Given the description of an element on the screen output the (x, y) to click on. 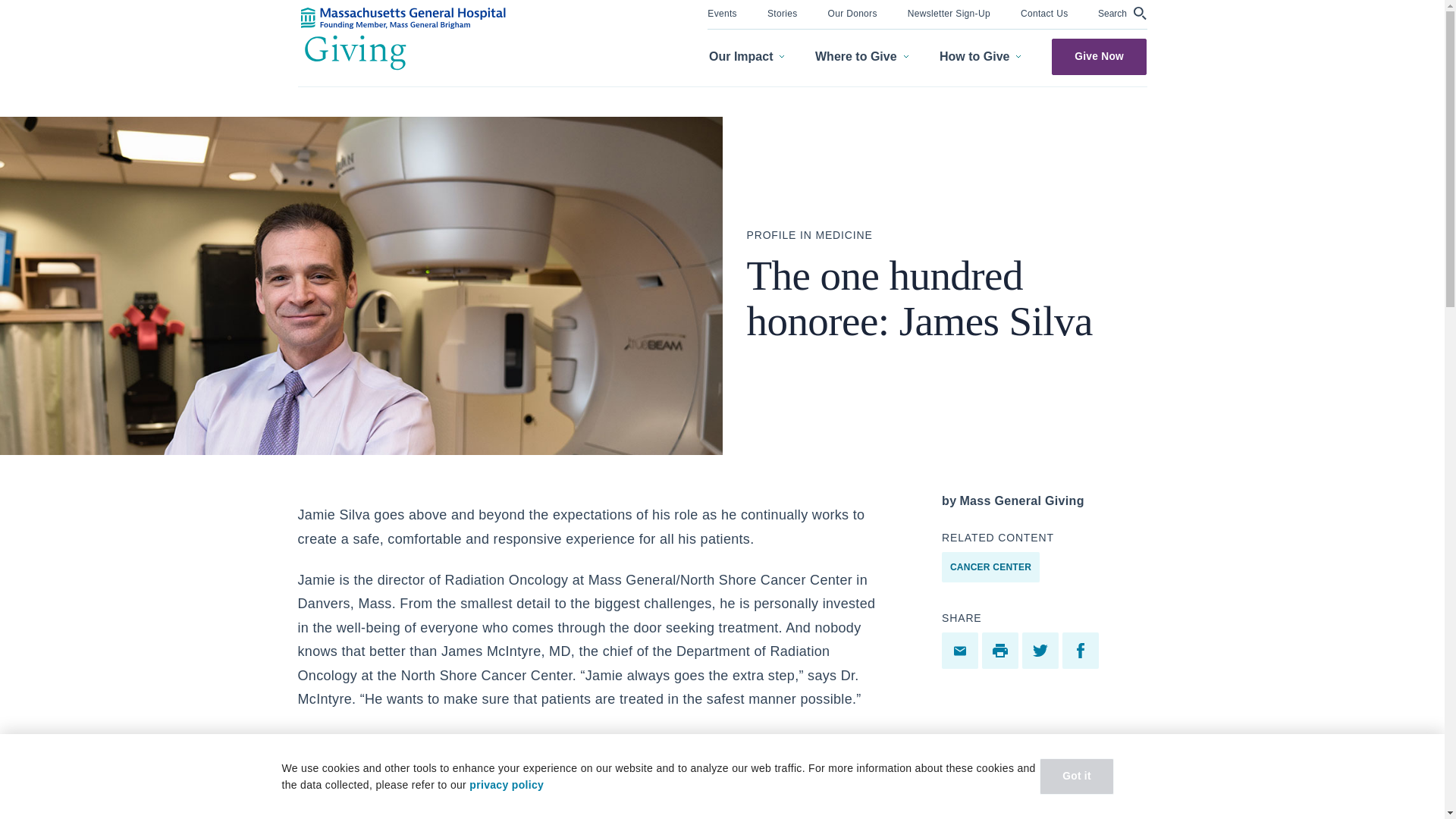
How to Give (980, 56)
Events (721, 11)
Contact Us (1044, 11)
Our Donors (852, 11)
Our Impact (746, 56)
Search (1122, 12)
Give Now (1099, 56)
Newsletter Sign-Up (948, 11)
Stories (782, 11)
CANCER CENTER (990, 567)
Where to Give (861, 56)
